Given the description of an element on the screen output the (x, y) to click on. 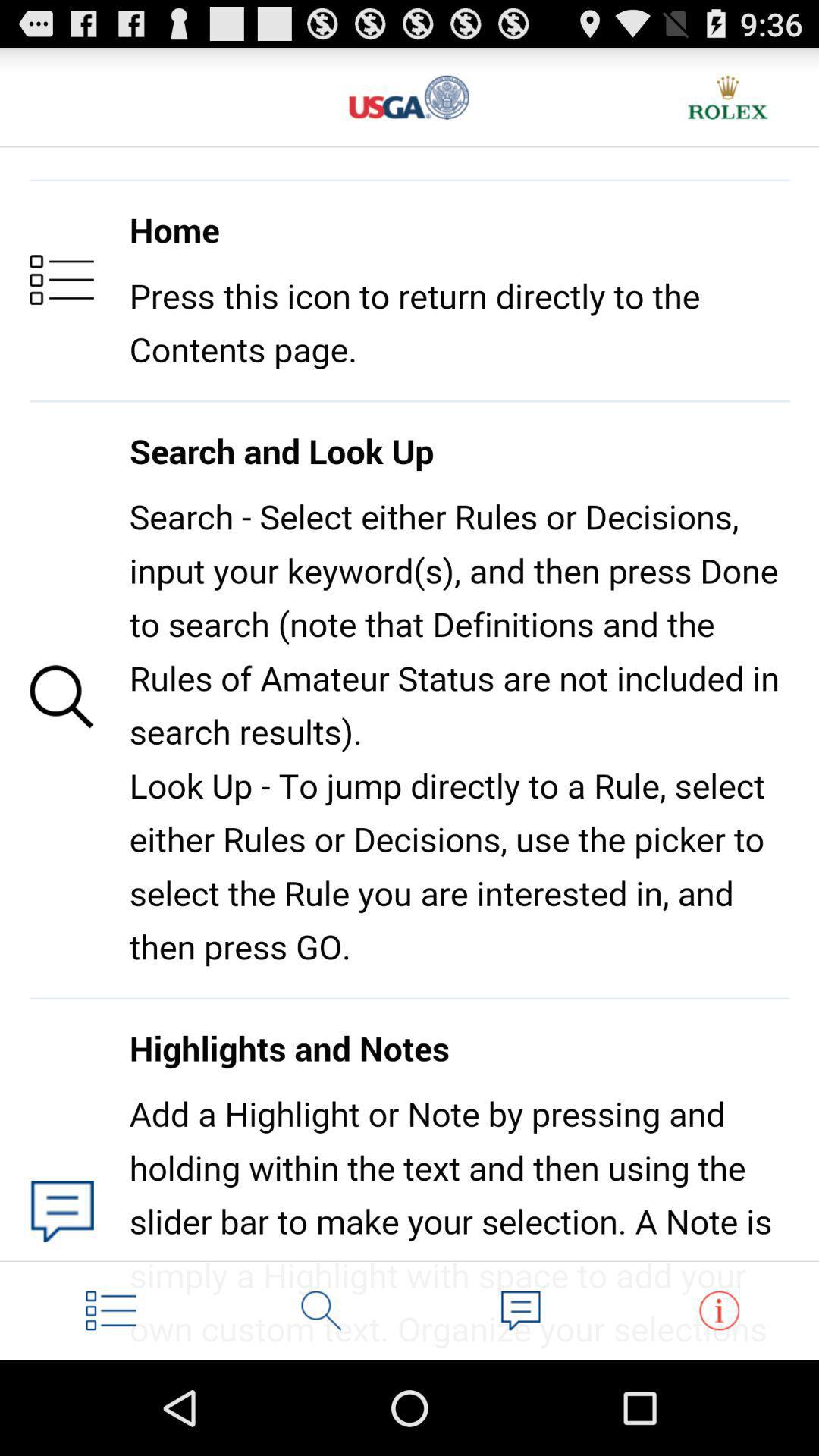
click details (719, 1310)
